Given the description of an element on the screen output the (x, y) to click on. 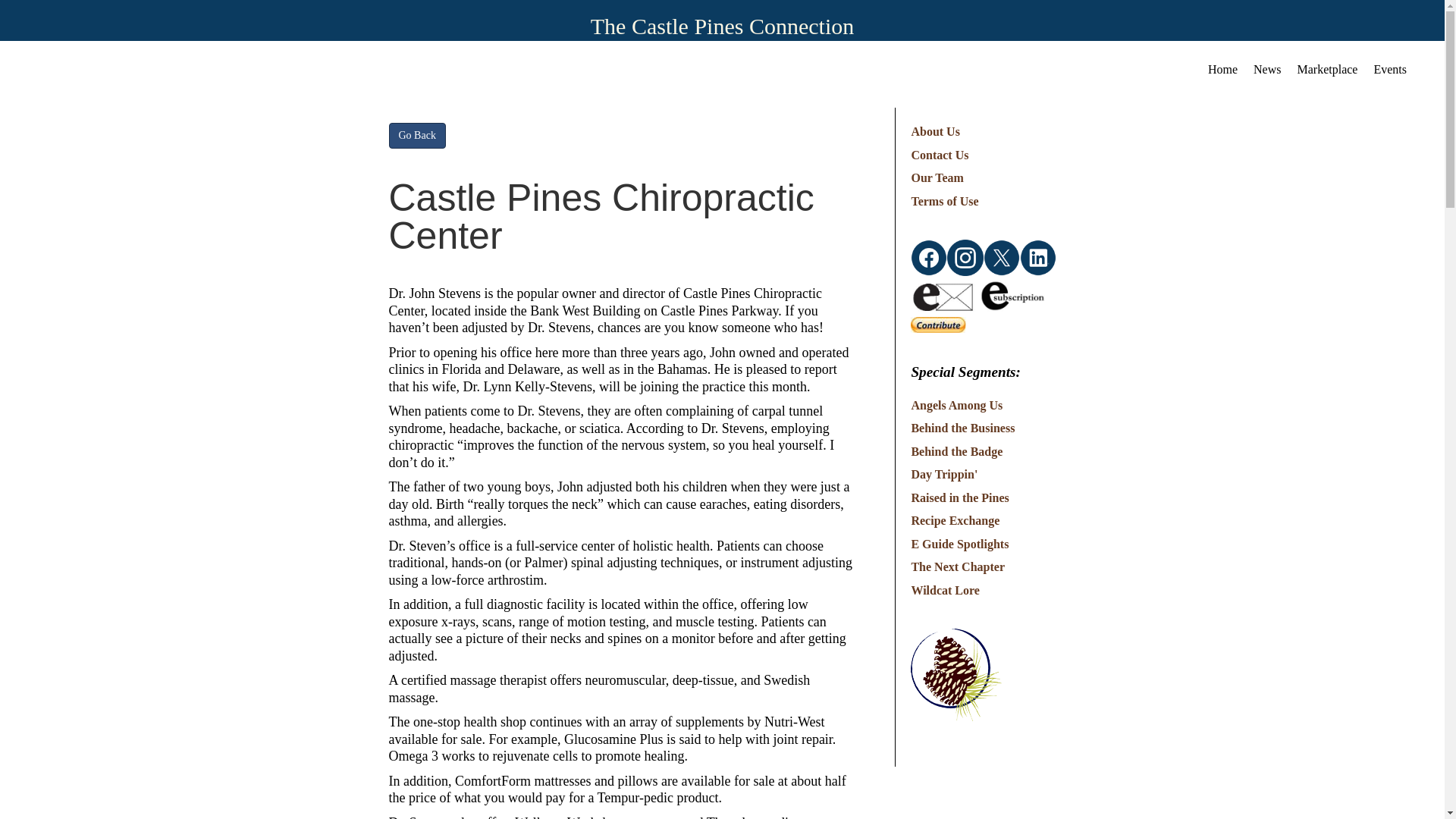
Marketplace (1326, 66)
The Castle Pines Connection (722, 25)
Events (1389, 66)
News (1267, 66)
The Castle Pines Connection (722, 25)
Go Back (416, 135)
Home (1221, 66)
